Given the description of an element on the screen output the (x, y) to click on. 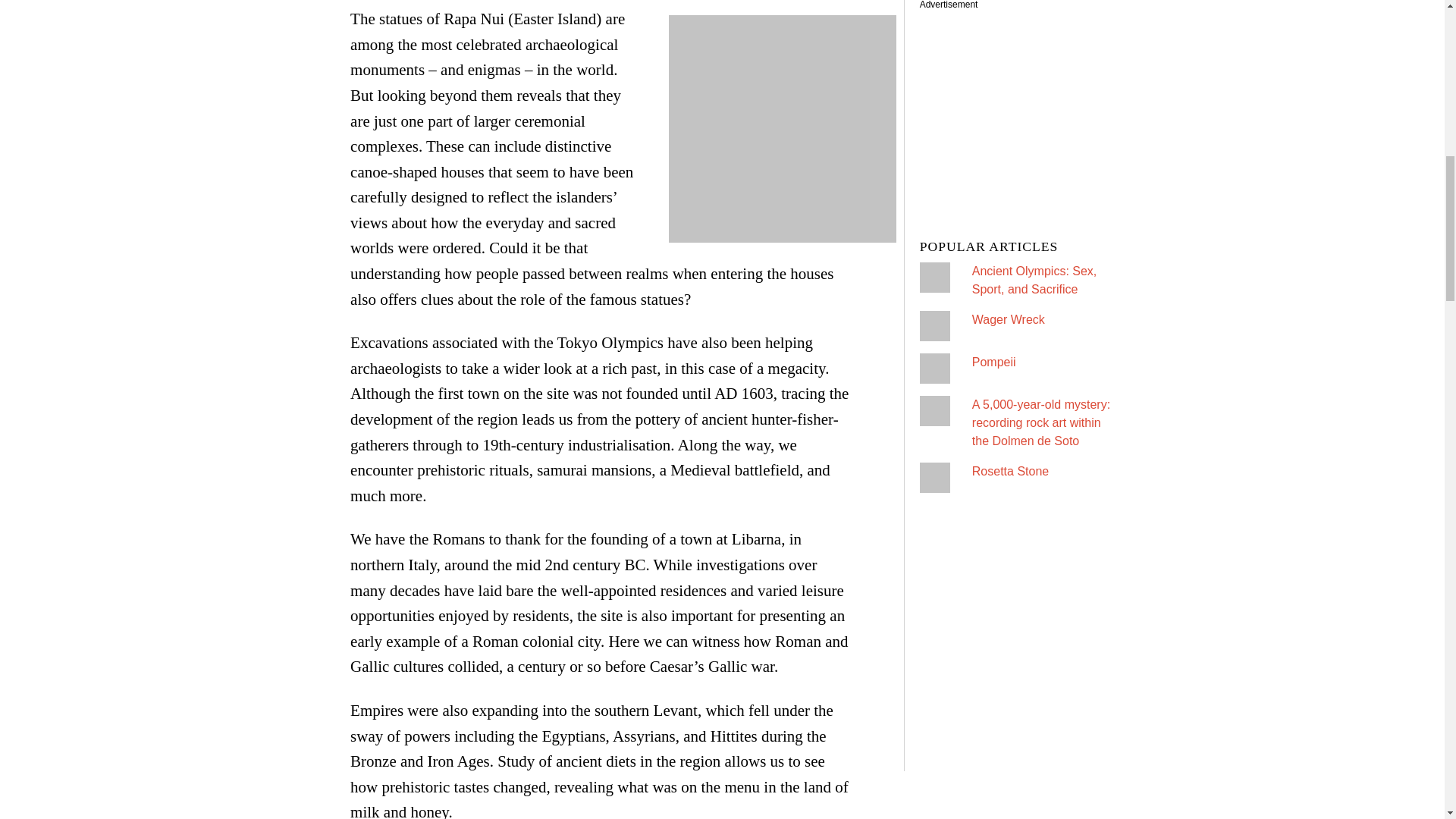
Ancient Olympics: Sex, Sport, and Sacrifice (1034, 279)
Wager Wreck (1008, 318)
